Given the description of an element on the screen output the (x, y) to click on. 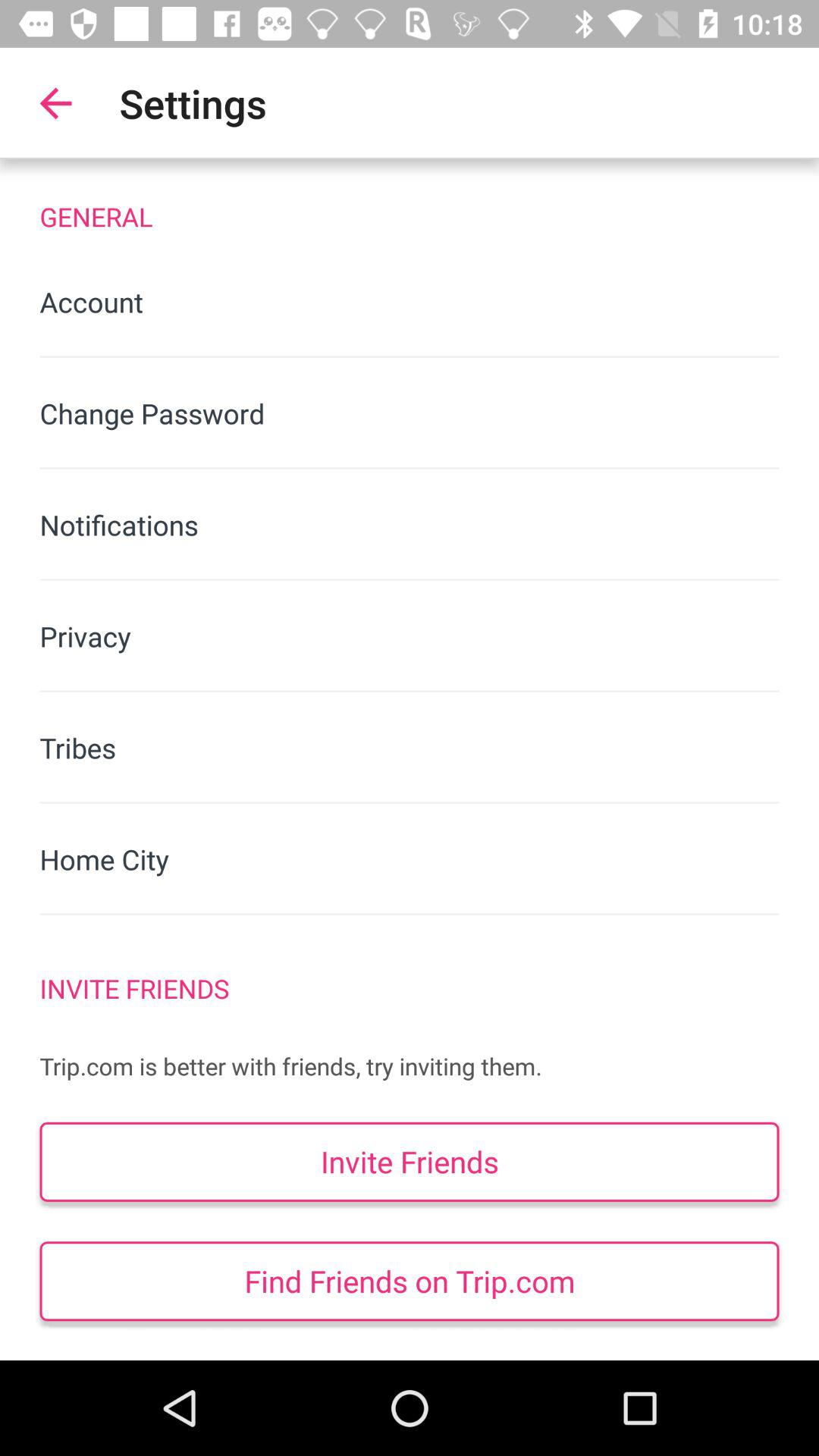
open the find friends on icon (409, 1281)
